Given the description of an element on the screen output the (x, y) to click on. 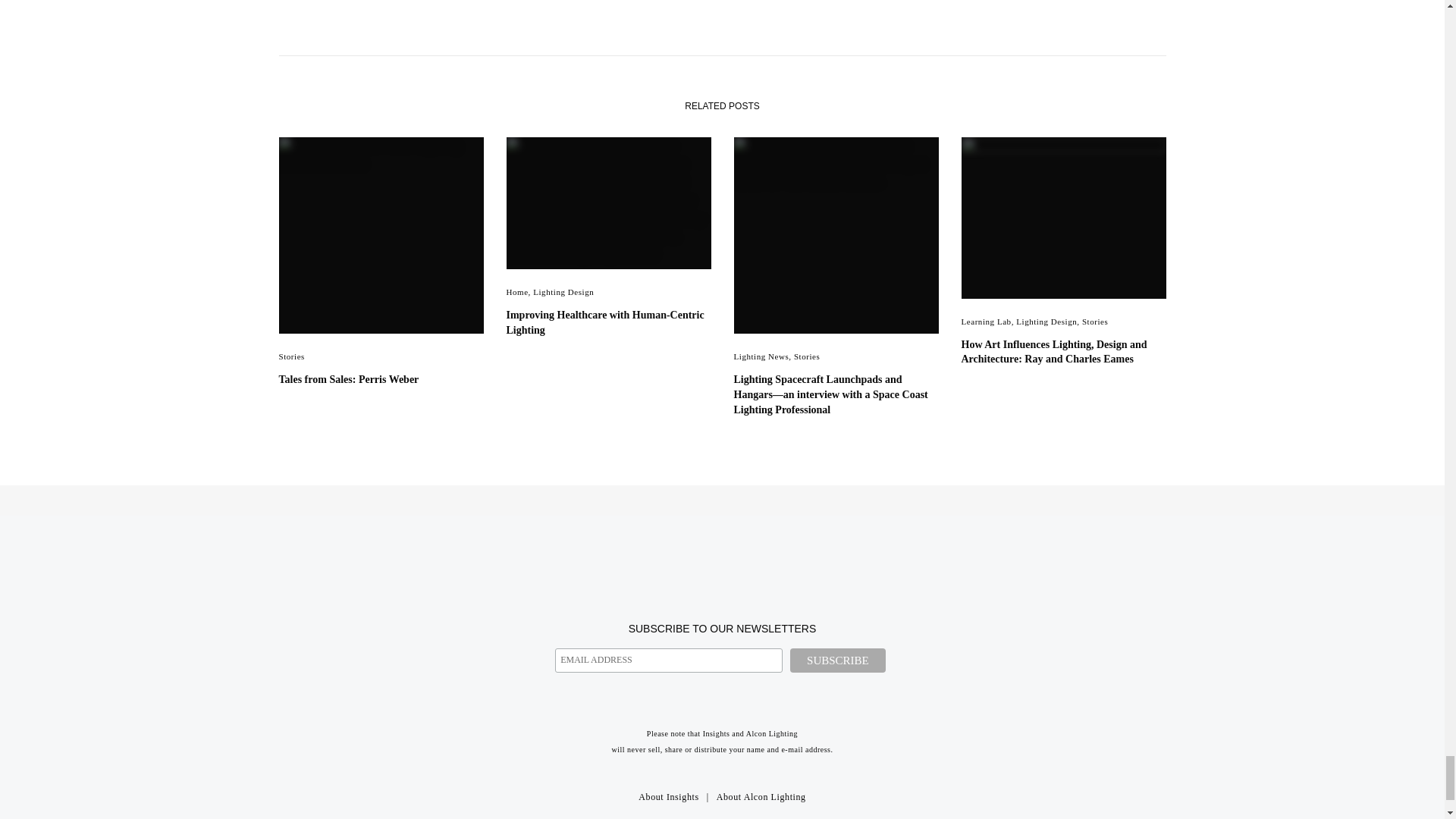
Subscribe (837, 660)
